Given the description of an element on the screen output the (x, y) to click on. 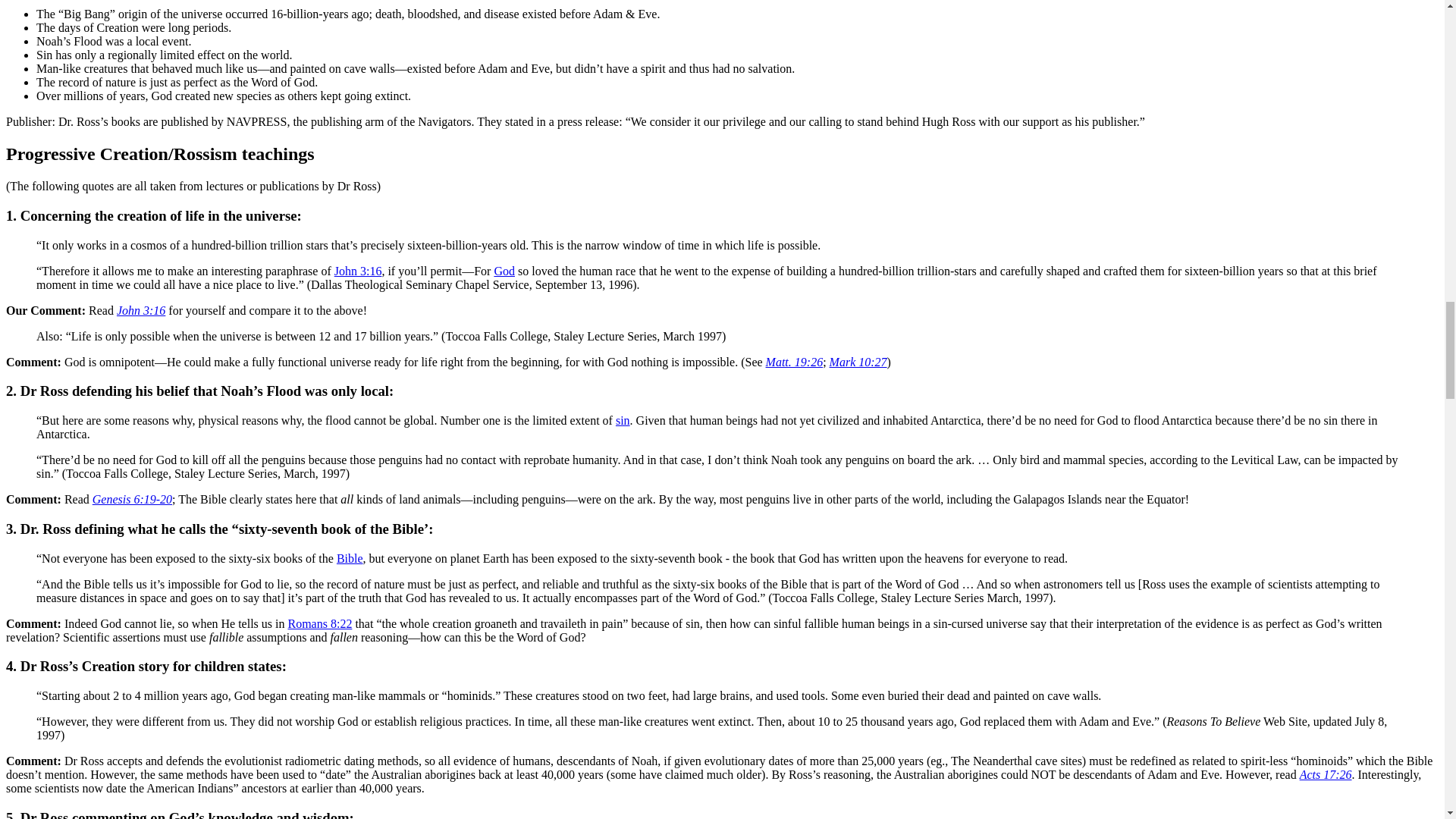
John 3:16 (140, 309)
Matt. 19:26 (794, 361)
John 3:16 (357, 270)
God (504, 270)
Mark 10:27 (857, 361)
